Given the description of an element on the screen output the (x, y) to click on. 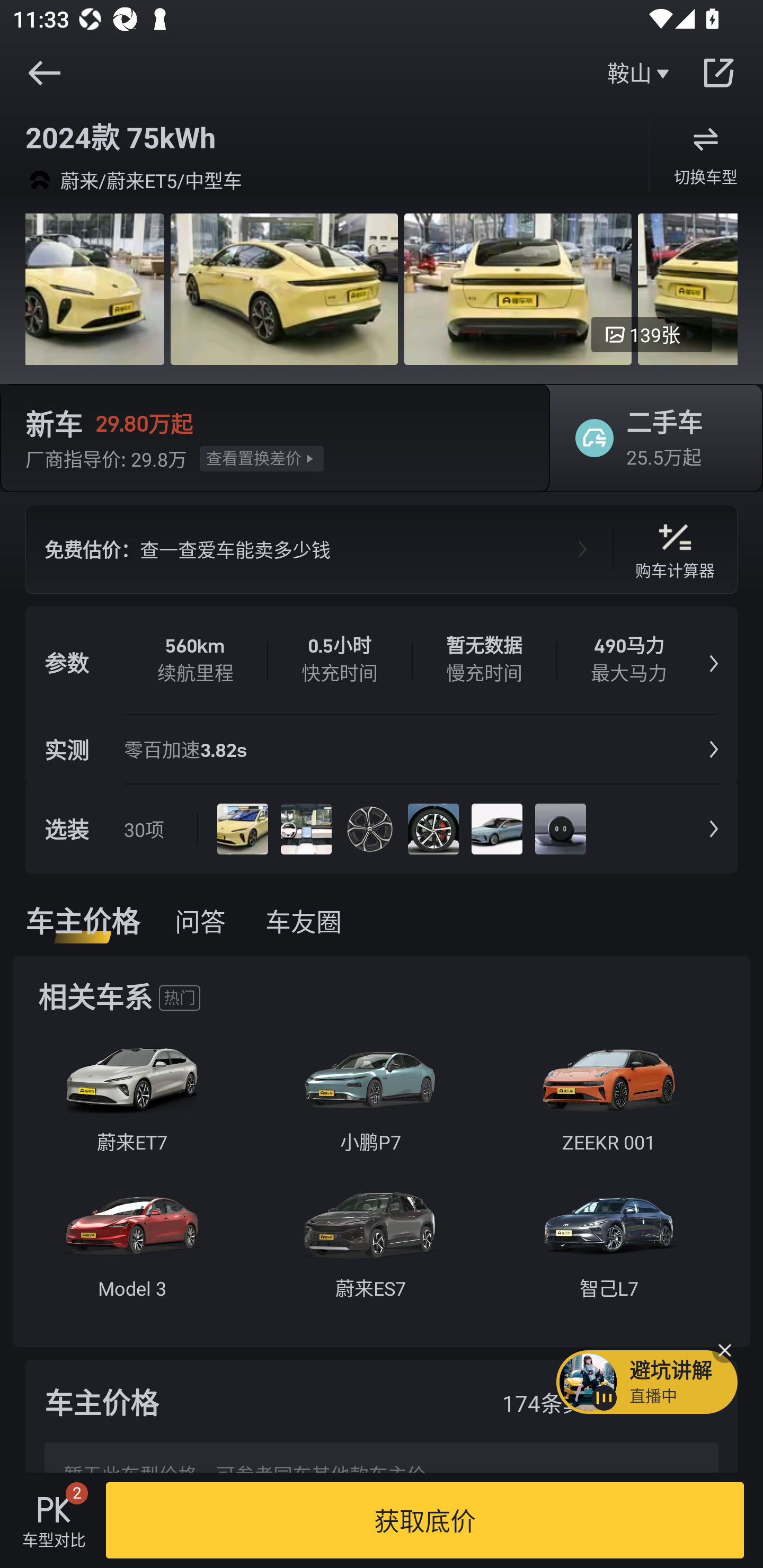
 (44, 72)
 (718, 72)
鞍山 (640, 73)
139张 (651, 334)
二手车 25.5万起 (650, 438)
查看置换差价  (261, 458)
免费估价： 查一查爱车能卖多少钱 (318, 549)
参数 560km 续航里程 0.5小时 快充时间 暂无数据 慢充时间 490马力 最大马力 (381, 660)
实测 零百加速3.82s (381, 749)
零百加速3.82s (191, 749)
选装 30项 (381, 828)
问答 (199, 920)
车友圈 (308, 920)
蔚来ET7 (131, 1103)
小鹏P7 (370, 1103)
ZEEKR 001 (608, 1103)
Model 3 (131, 1250)
蔚来ES7 (370, 1250)
智己L7 (608, 1250)
避坑讲解 直播中 (646, 1382)
车主价格 174条其他款车主价 (381, 1400)
车型对比 (53, 1520)
获取底价 (424, 1519)
